Given the description of an element on the screen output the (x, y) to click on. 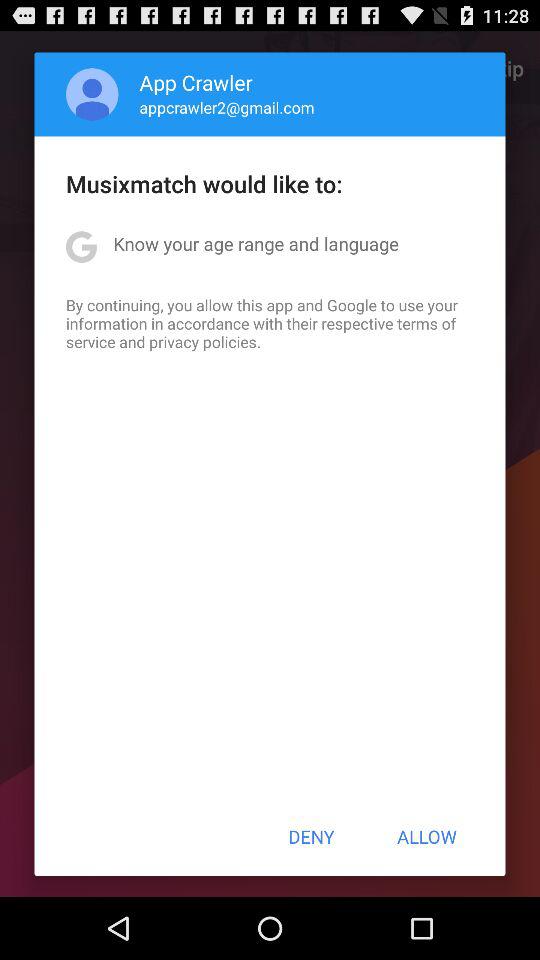
turn on the app above the musixmatch would like (92, 94)
